Given the description of an element on the screen output the (x, y) to click on. 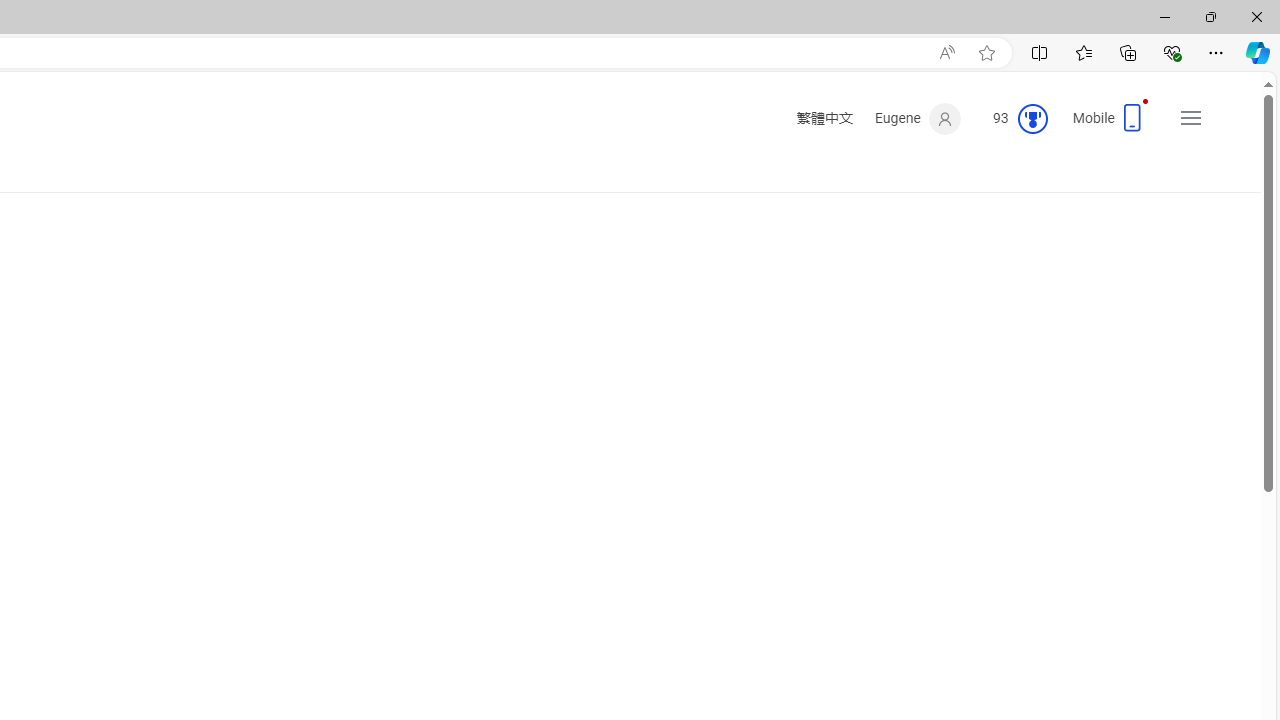
Eugene (918, 119)
